Given the description of an element on the screen output the (x, y) to click on. 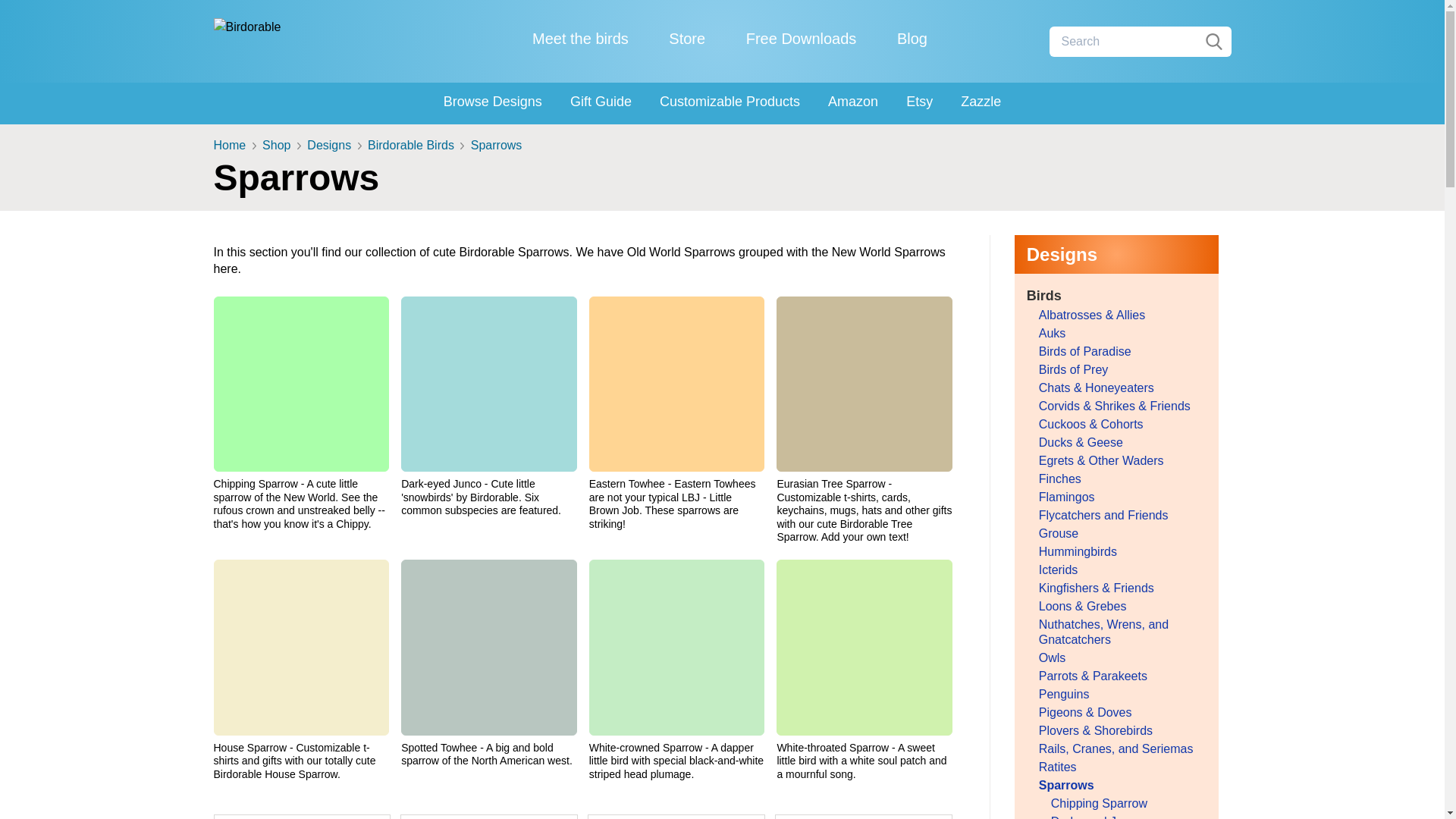
Free Downloads (801, 38)
Gift Guide (600, 101)
Browse Designs (492, 101)
Store (686, 38)
Blog (911, 38)
Meet the birds (580, 38)
